Given the description of an element on the screen output the (x, y) to click on. 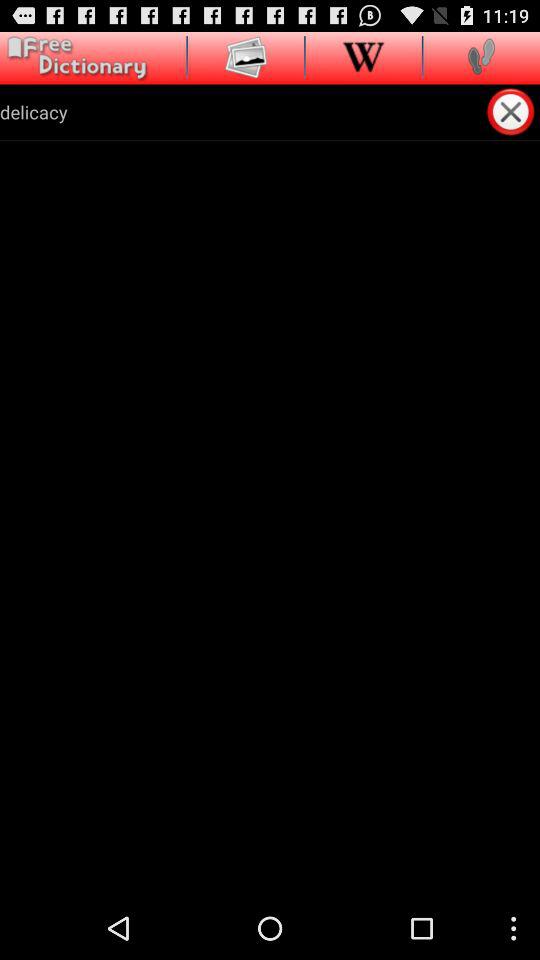
open item to the right of the delicacy (512, 111)
